Given the description of an element on the screen output the (x, y) to click on. 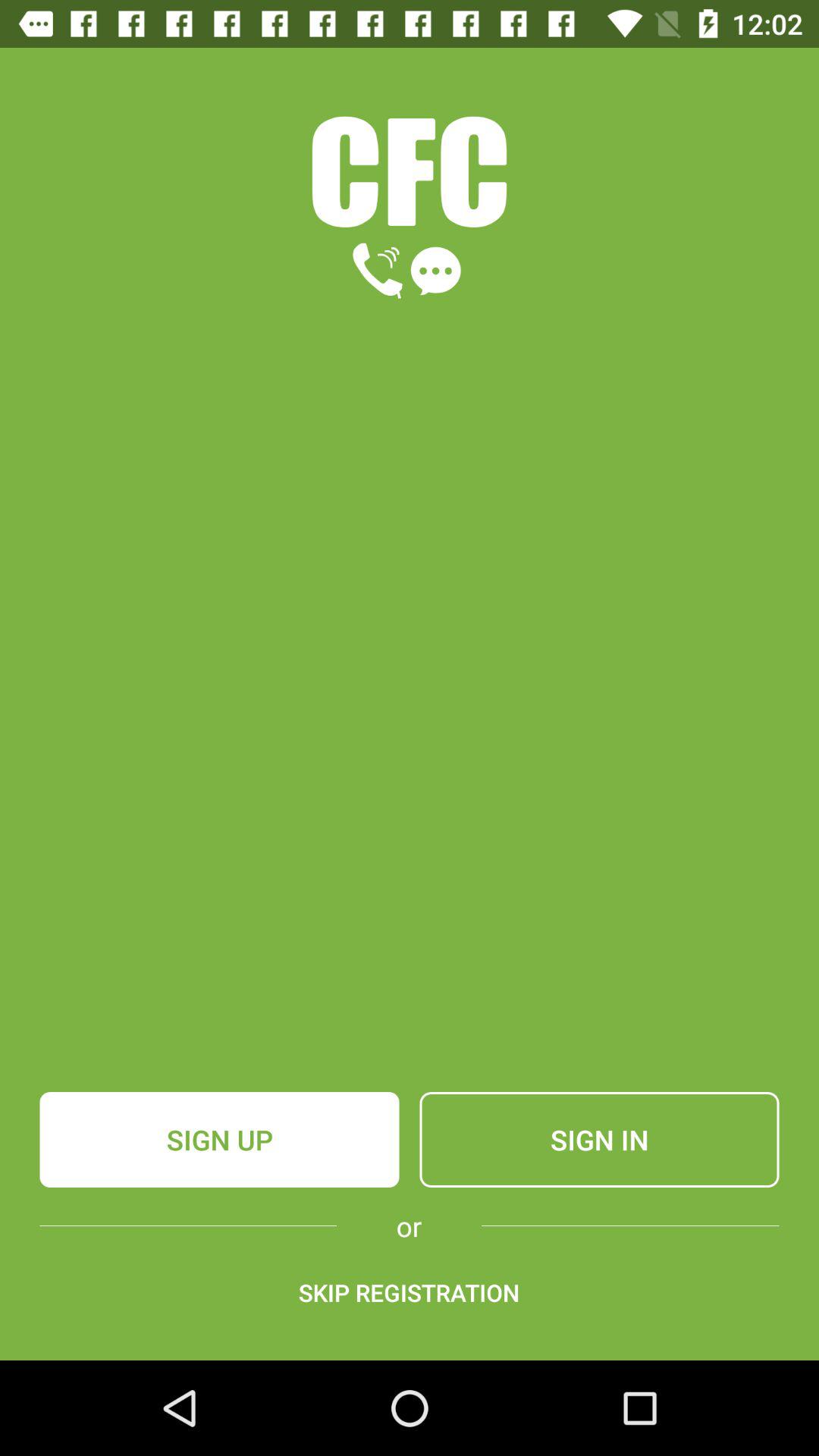
select the icon below the or item (408, 1292)
